Given the description of an element on the screen output the (x, y) to click on. 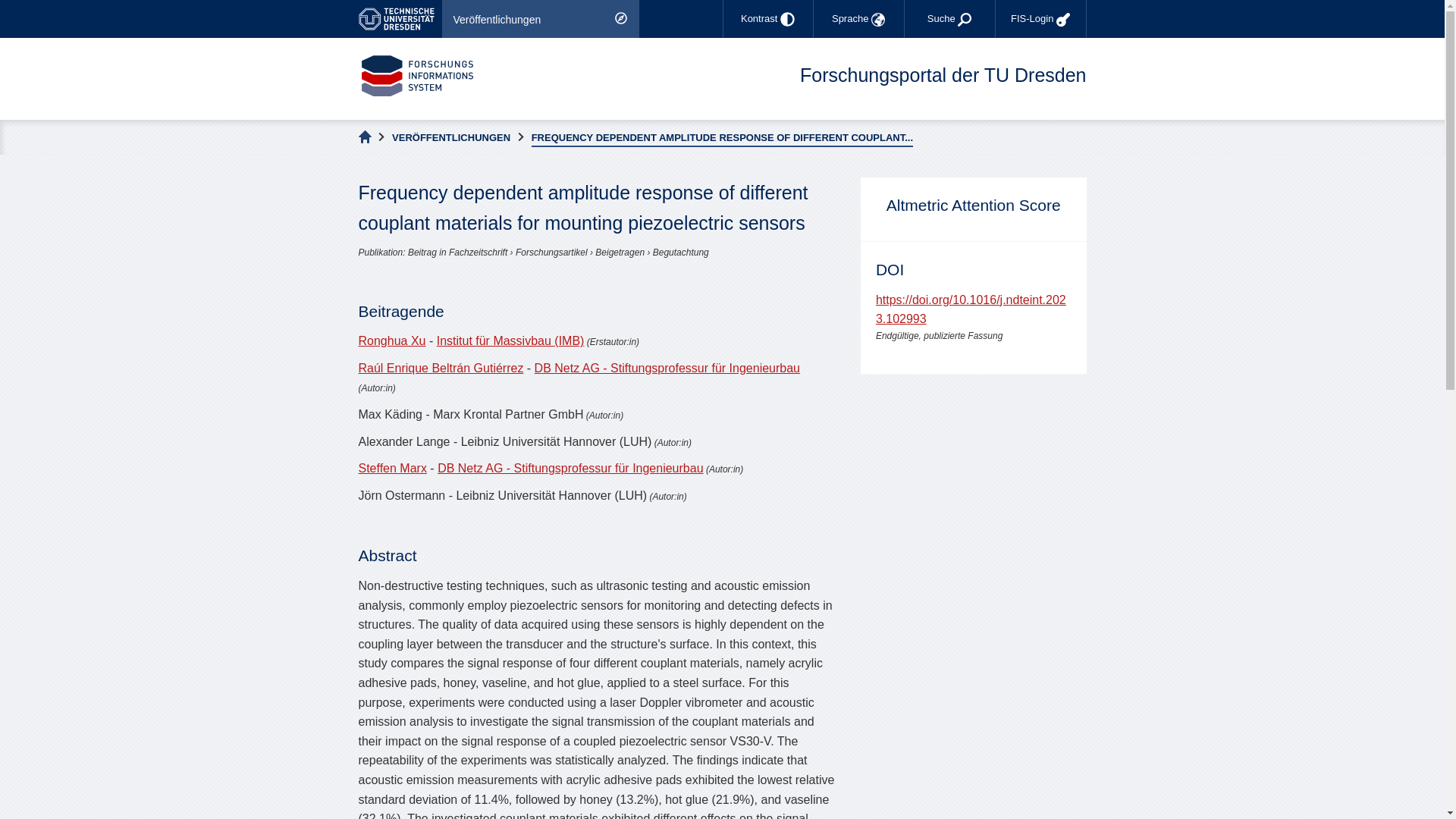
Ronghua Xu (391, 340)
Suche (949, 18)
Globale Suche umschalten (949, 18)
Steffen Marx (392, 468)
FIS-Login (1040, 18)
, Externer Link (399, 18)
Kontrast (767, 18)
Sprache (858, 18)
Sprachauswahl umschalten (858, 18)
